Given the description of an element on the screen output the (x, y) to click on. 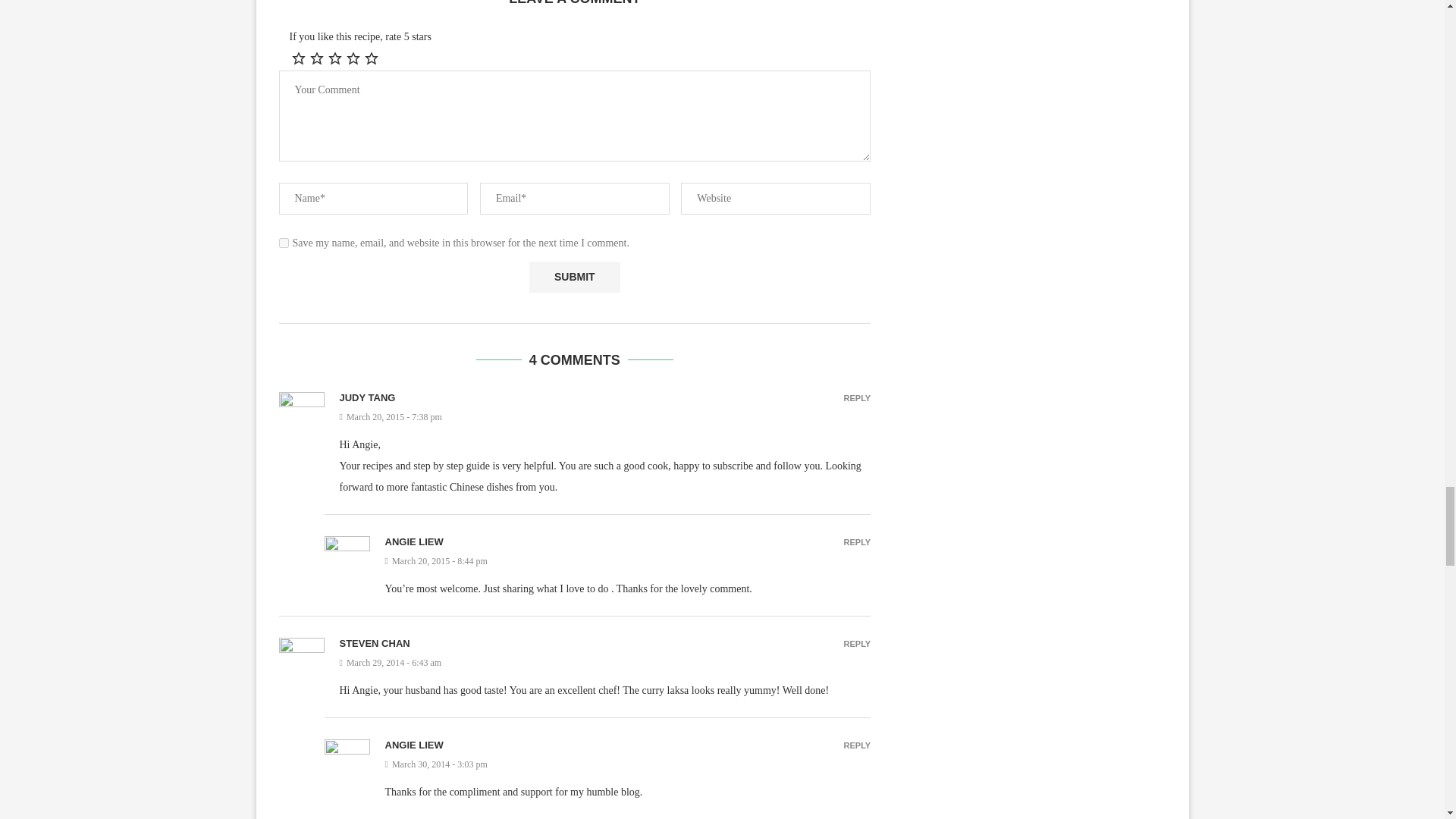
Submit (574, 276)
Sunday, March 30, 2014, 3:03 pm (627, 764)
Friday, March 20, 2015, 8:44 pm (627, 561)
Friday, March 20, 2015, 7:38 pm (604, 417)
yes (283, 243)
Saturday, March 29, 2014, 6:43 am (604, 663)
